Given the description of an element on the screen output the (x, y) to click on. 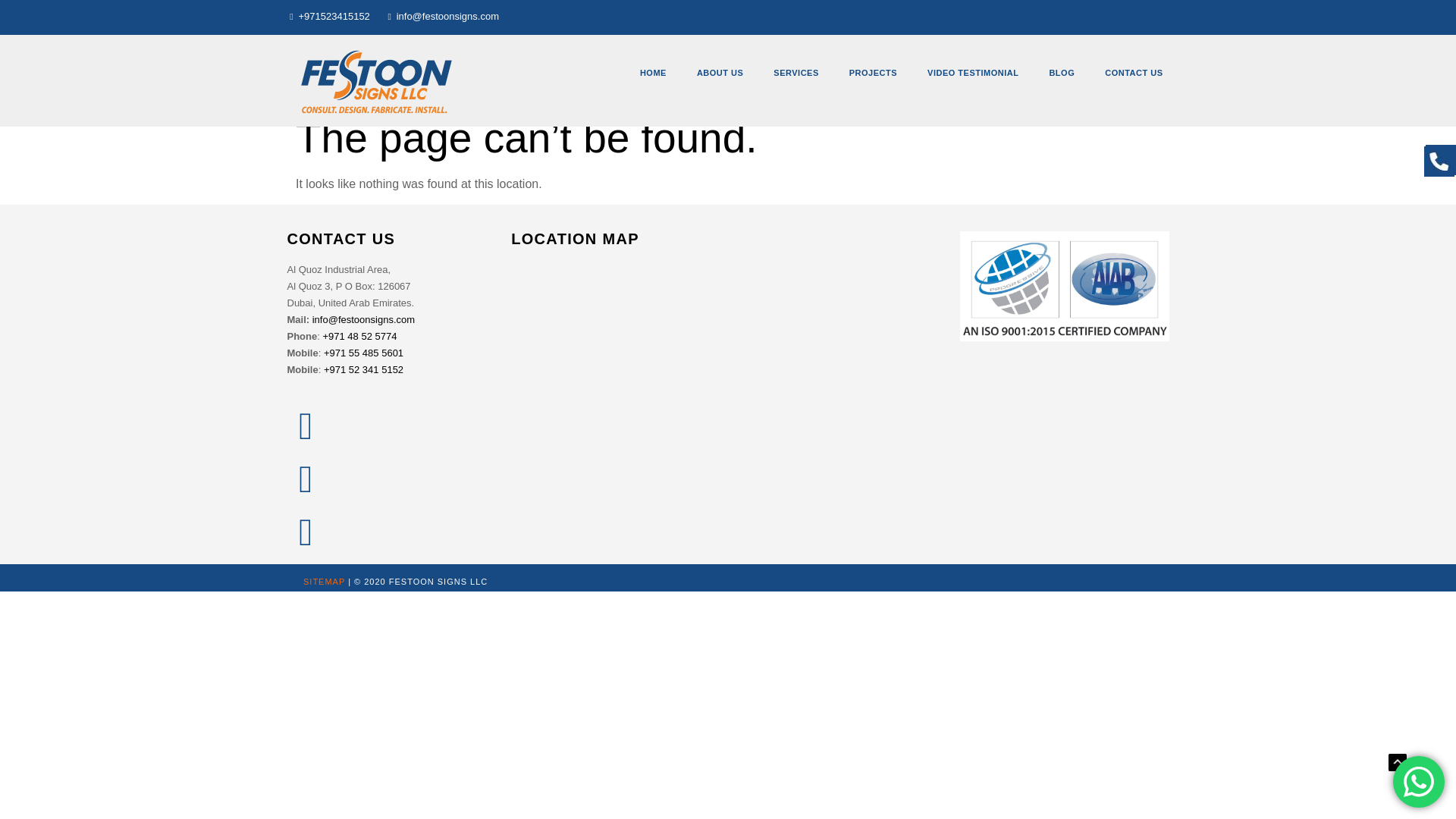
ABOUT US (719, 73)
WhatsApp us (1418, 781)
SITEMAP (323, 581)
BLOG (1061, 73)
HOME (652, 73)
CONTACT US (1133, 73)
PROJECTS (873, 73)
SERVICES (795, 73)
VIDEO TESTIMONIAL (972, 73)
